Given the description of an element on the screen output the (x, y) to click on. 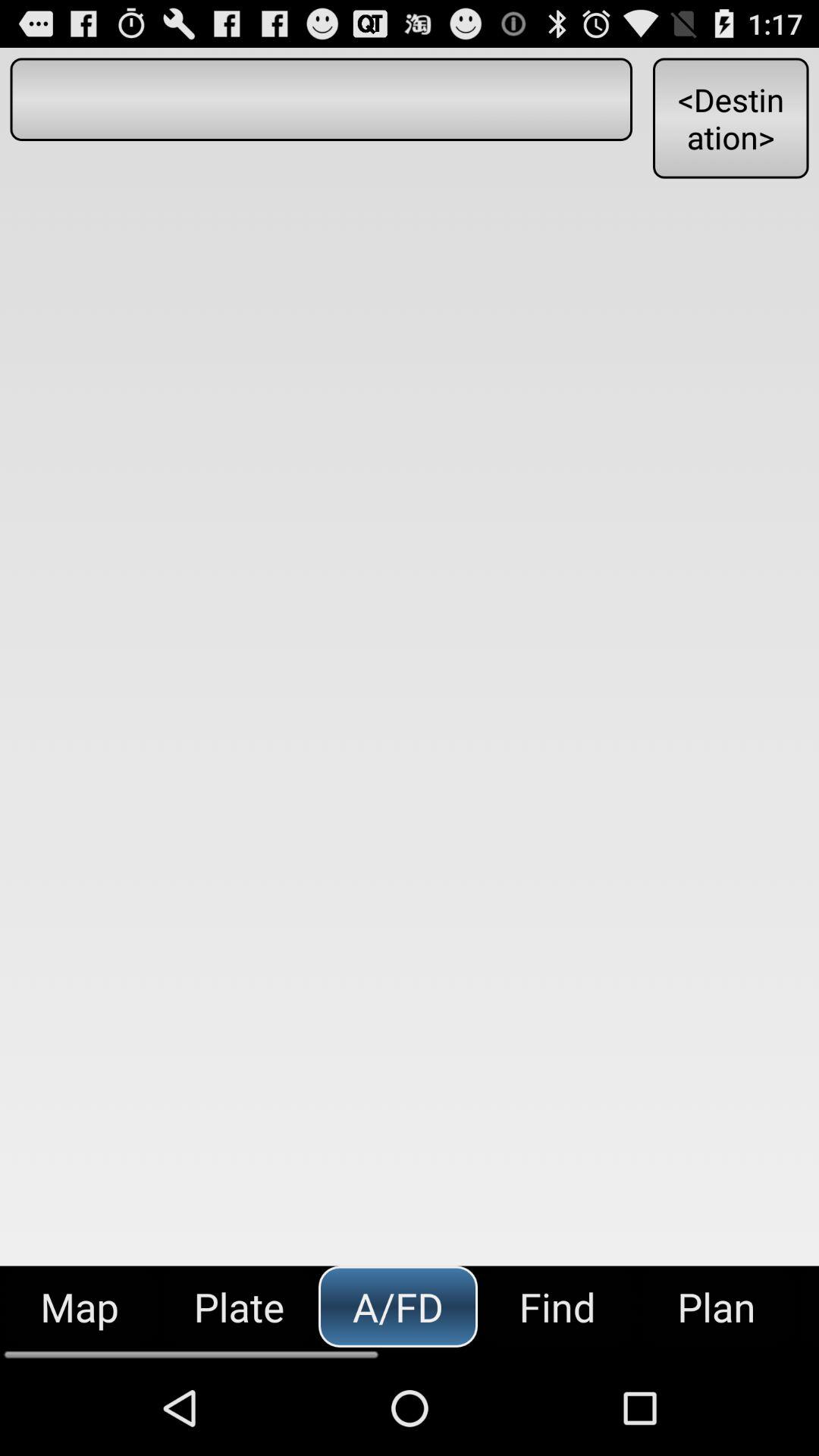
launch the item at the top (321, 99)
